Given the description of an element on the screen output the (x, y) to click on. 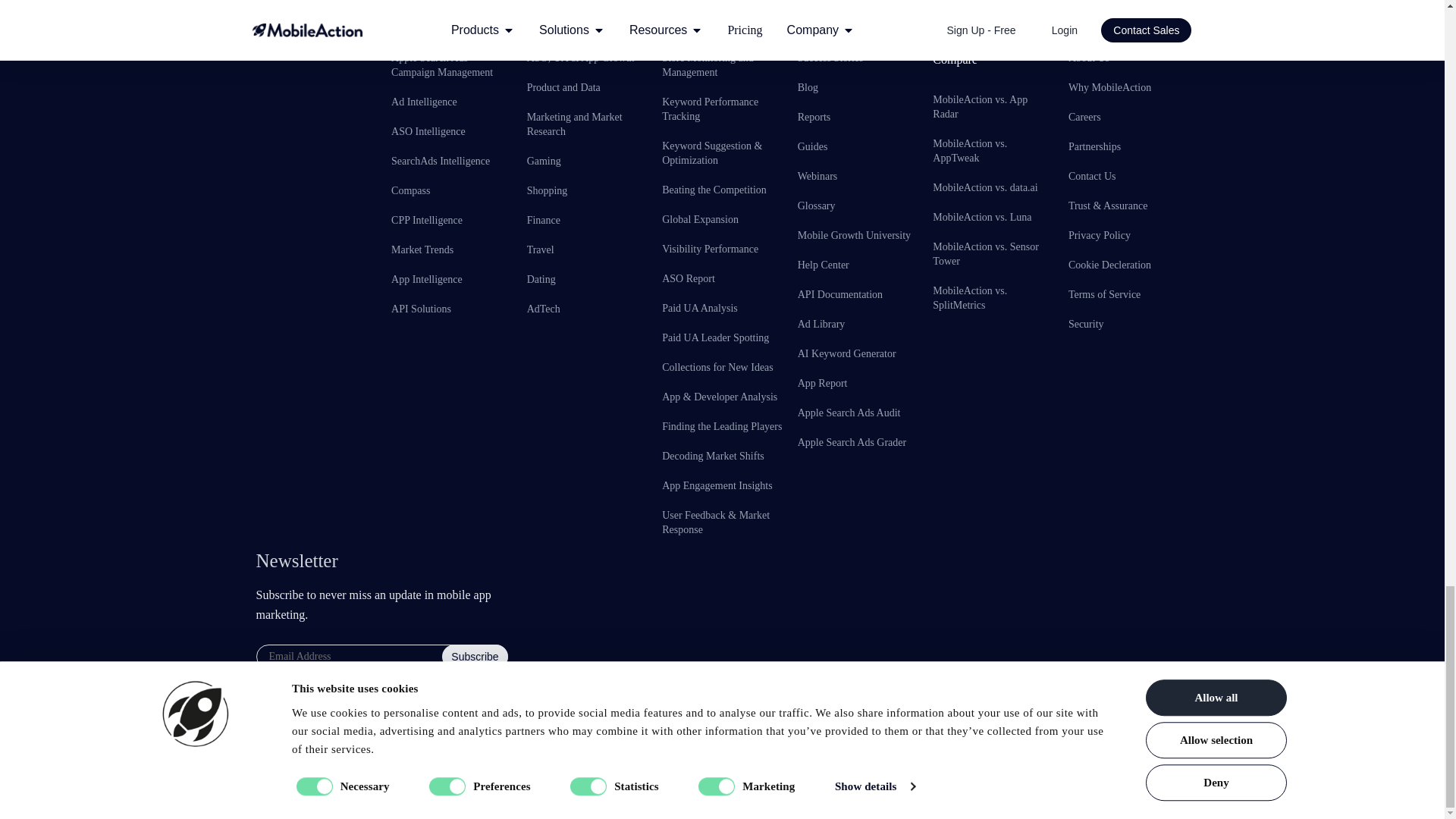
Subscribe (474, 656)
